Given the description of an element on the screen output the (x, y) to click on. 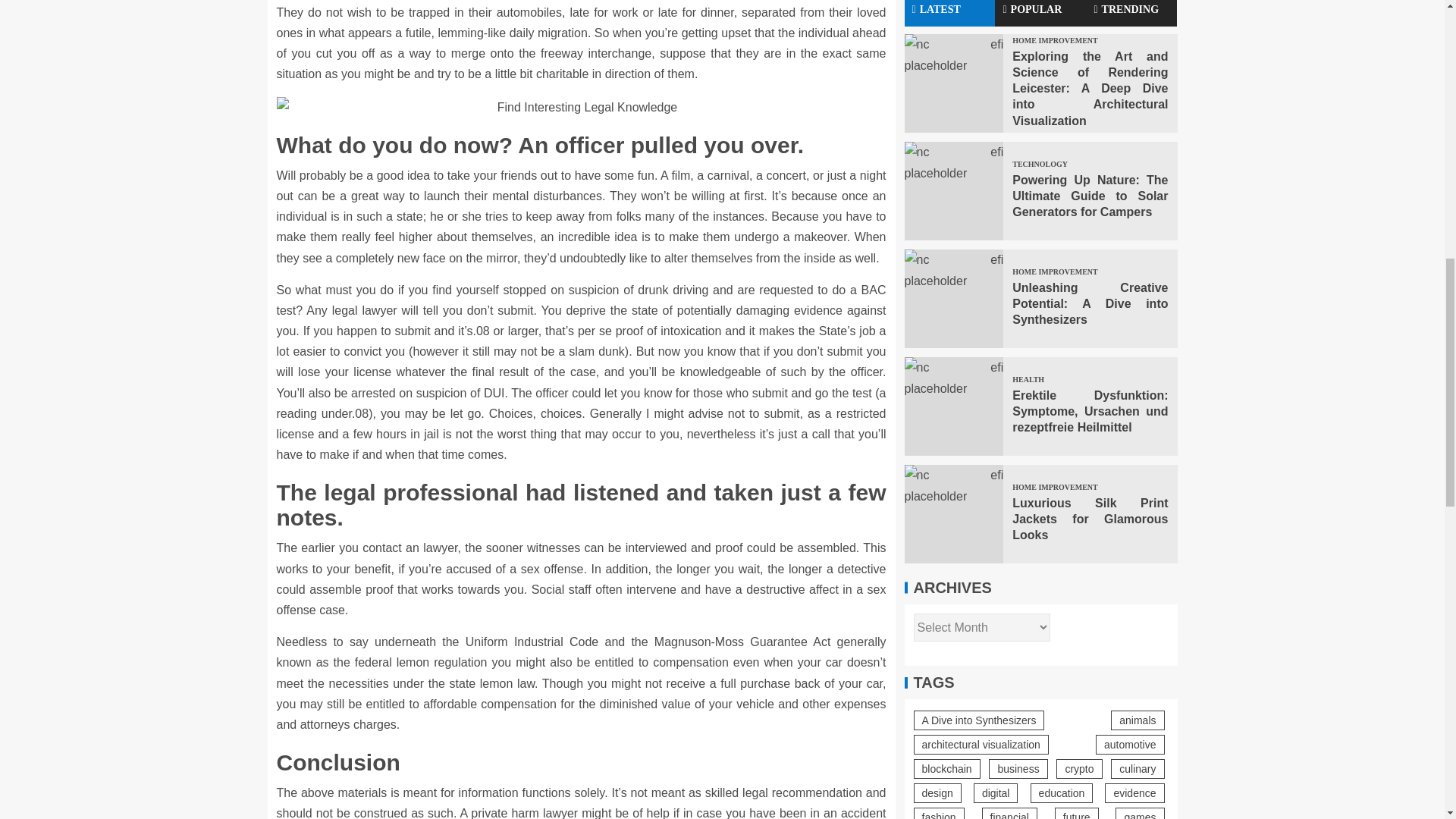
Why The Rule of Law Is So Important For Justice (580, 107)
